Given the description of an element on the screen output the (x, y) to click on. 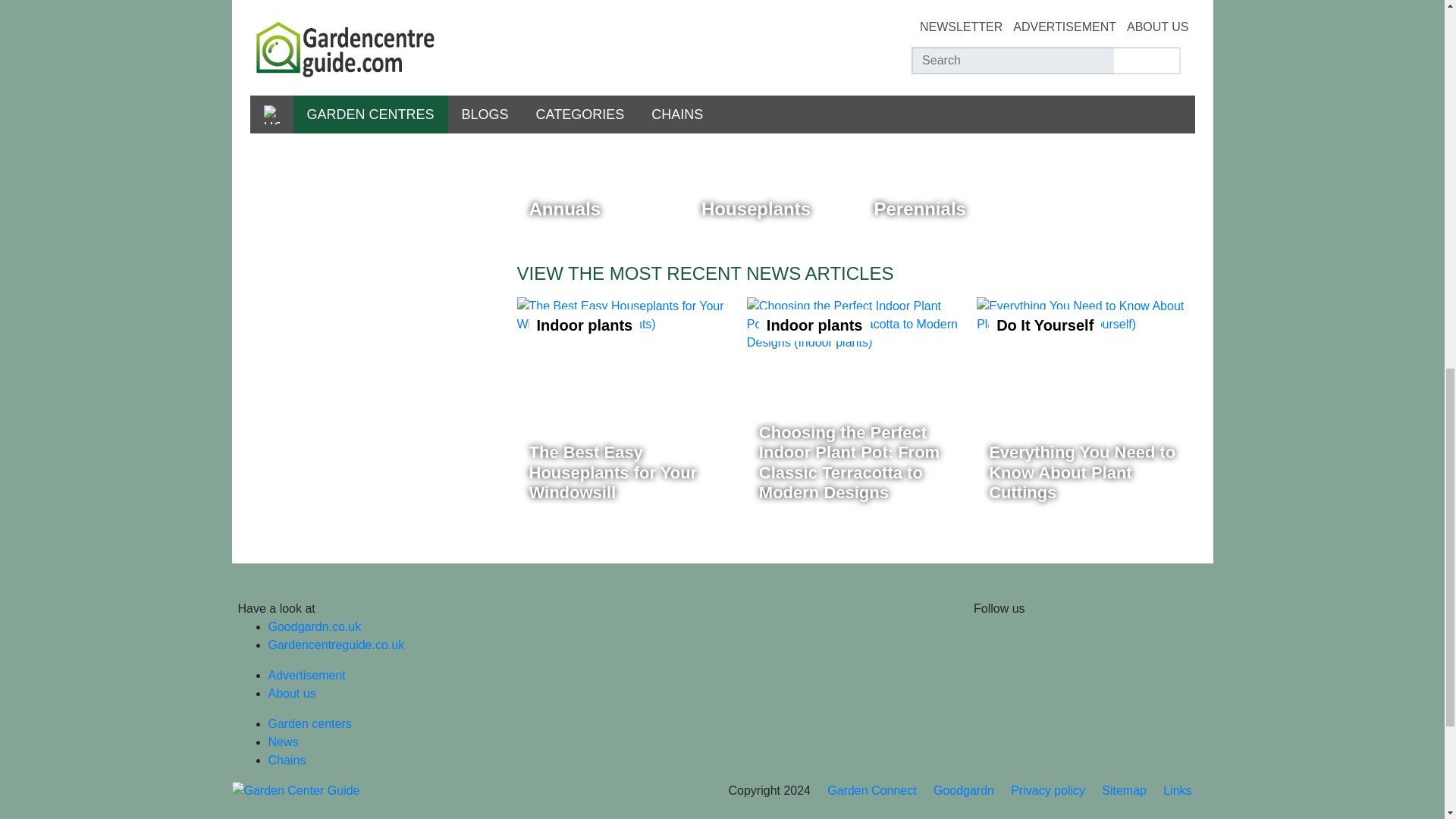
Perennials (941, 152)
Goodgardn.co.uk (625, 406)
Houseplants (314, 626)
Annuals (769, 152)
Advertisement (597, 152)
I want to sign-up (306, 675)
Gardencentreguide.co.uk (376, 48)
